Given the description of an element on the screen output the (x, y) to click on. 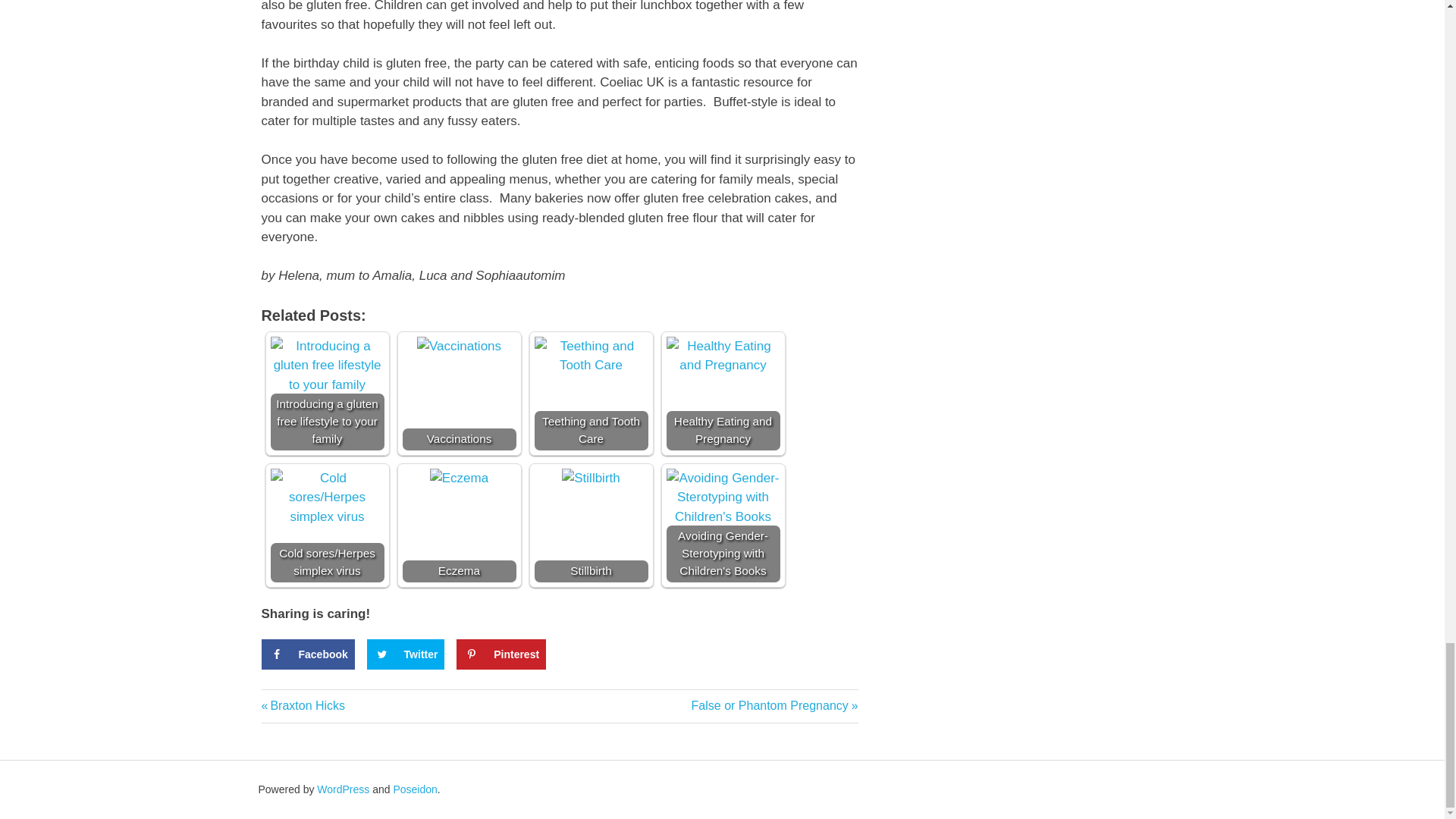
Poseidon WordPress Theme (414, 788)
Introducing a gluten free lifestyle to your family (326, 365)
Stillbirth (591, 478)
Share on Twitter (405, 654)
Introducing a gluten free lifestyle to your family (326, 393)
Stillbirth (590, 525)
Eczema (458, 478)
Vaccinations (458, 346)
WordPress (343, 788)
Healthy Eating and Pregnancy (721, 355)
